Given the description of an element on the screen output the (x, y) to click on. 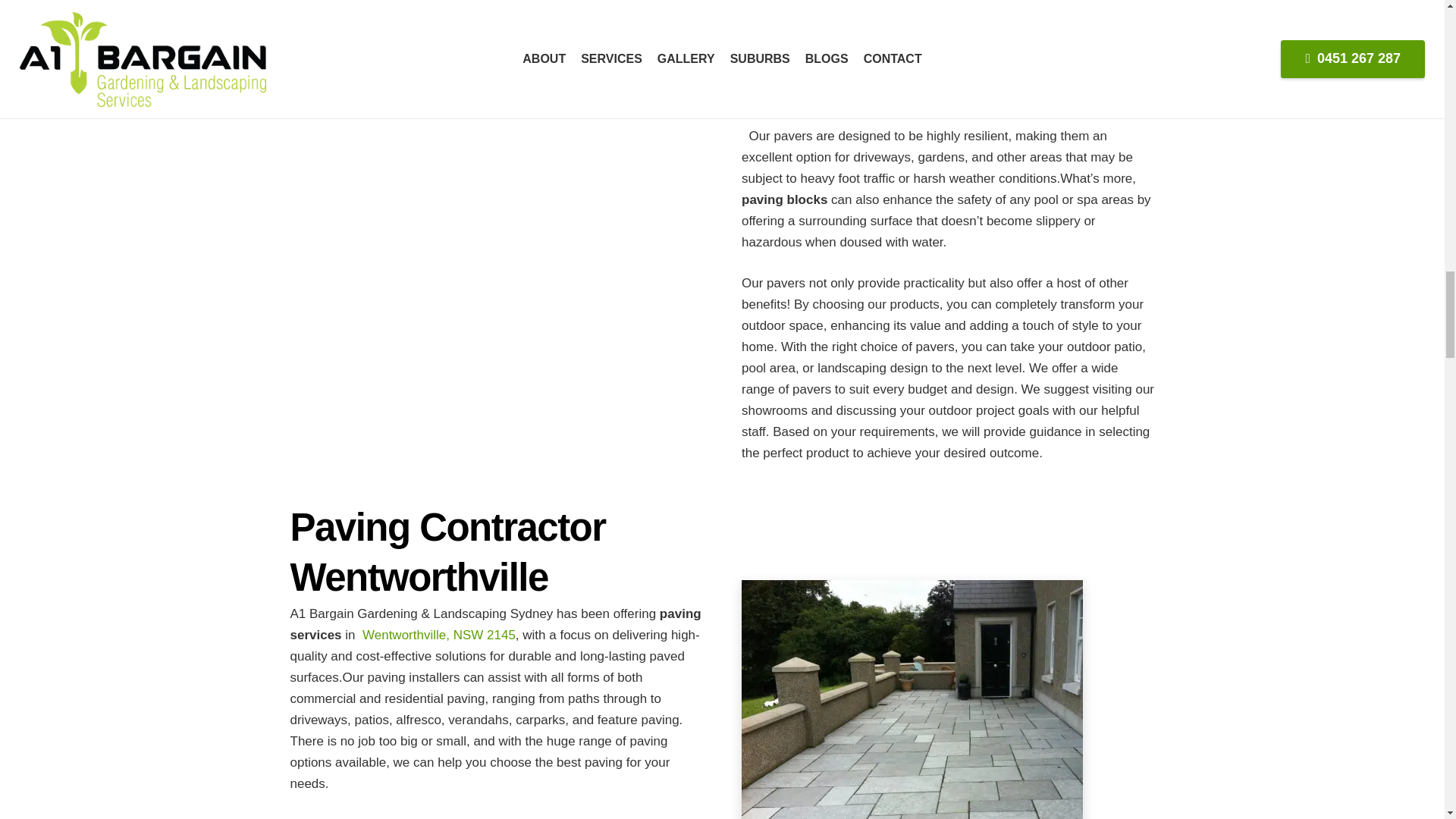
Wentworthville, NSW 2145 (438, 635)
